Given the description of an element on the screen output the (x, y) to click on. 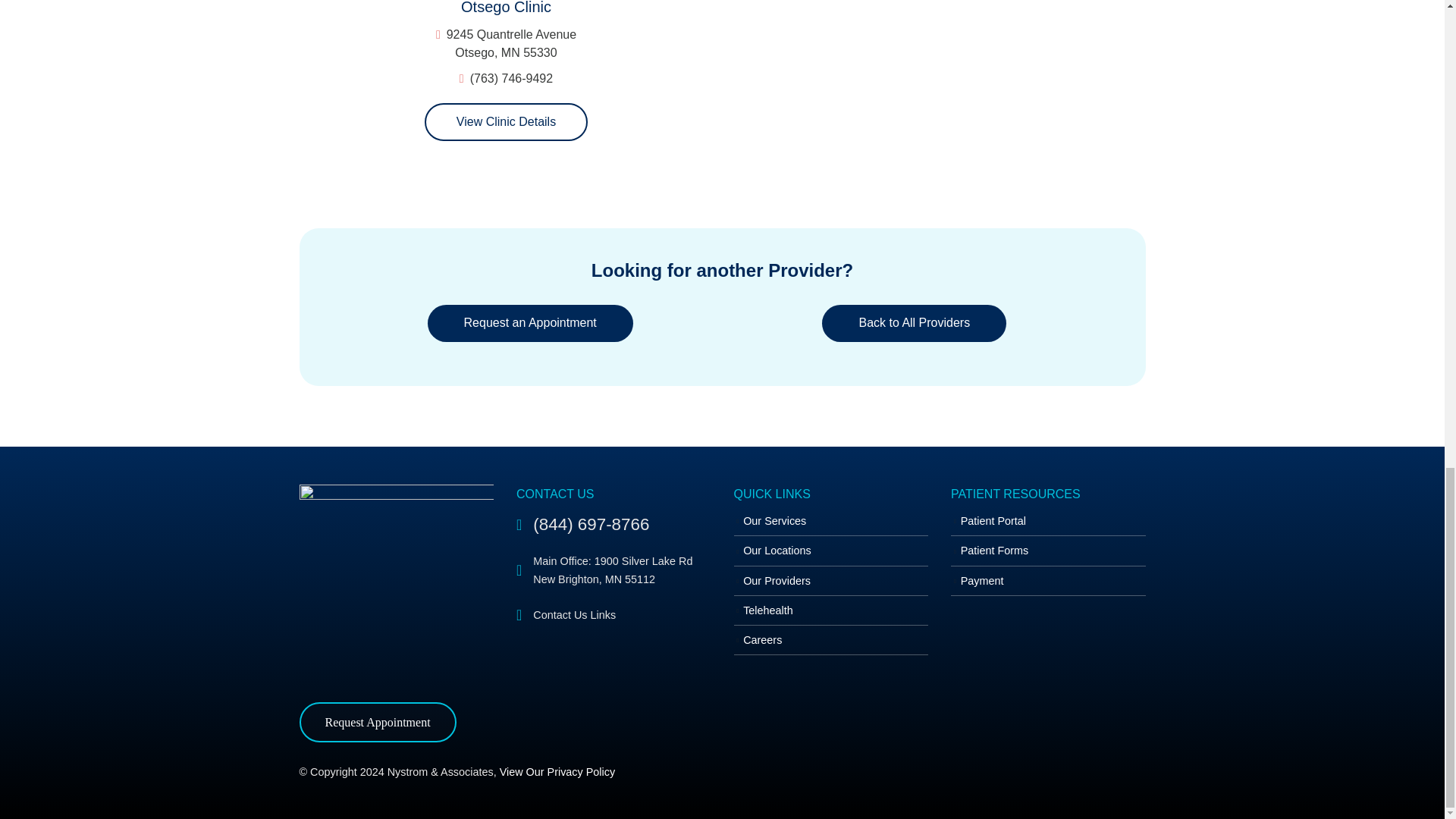
Clinic Information (506, 121)
nystrom-white-logo-280x85 (395, 581)
Contact Us (613, 613)
